Given the description of an element on the screen output the (x, y) to click on. 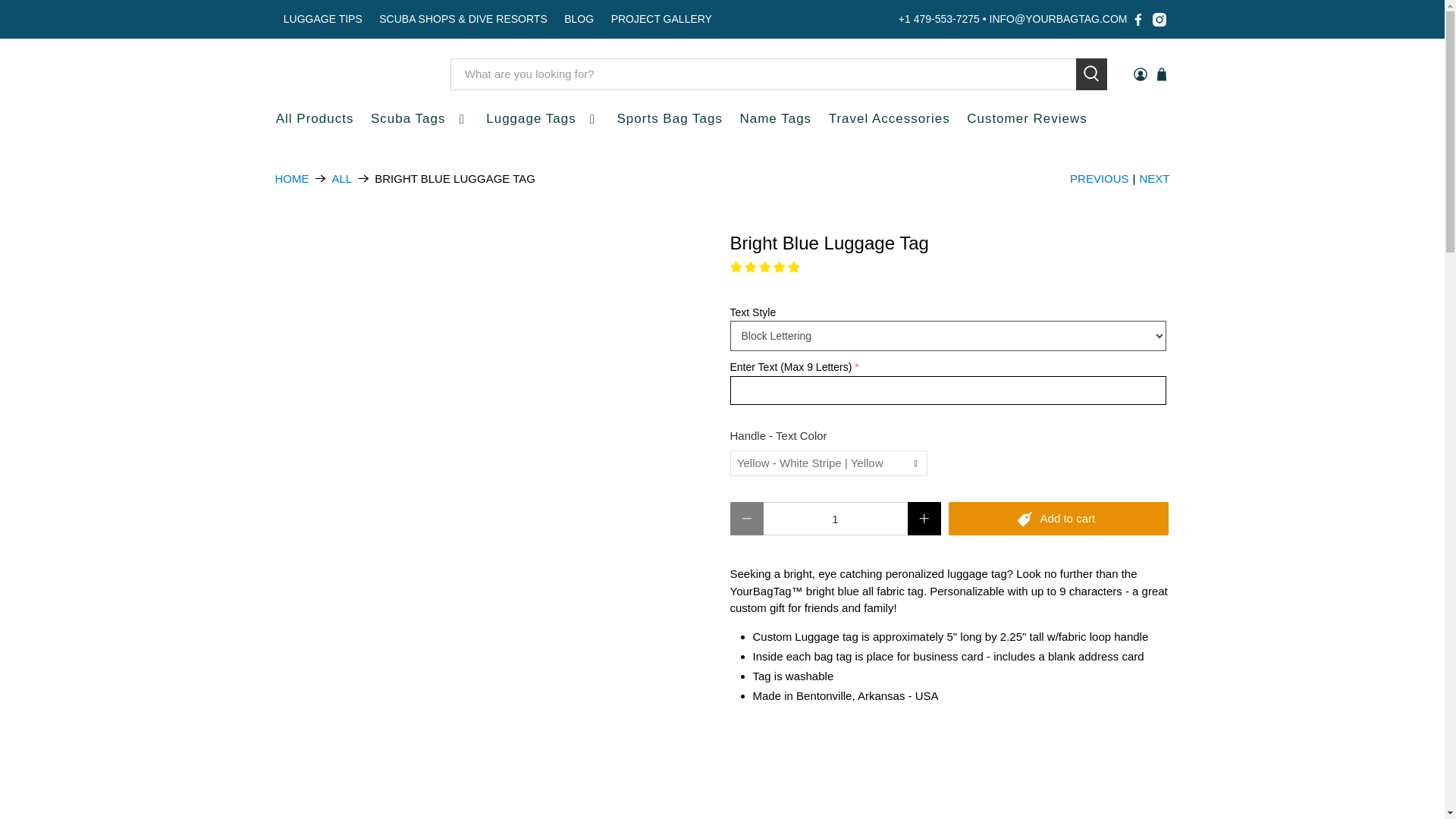
PROJECT GALLERY (661, 19)
1 (834, 518)
YourBagTag on Instagram (1159, 18)
All Products (313, 118)
Customer Reviews (1027, 118)
LUGGAGE TIPS (323, 19)
Travel Accessories (888, 118)
Sports Bag Tags (669, 118)
YourBagTag (291, 178)
Name Tags (774, 118)
